Given the description of an element on the screen output the (x, y) to click on. 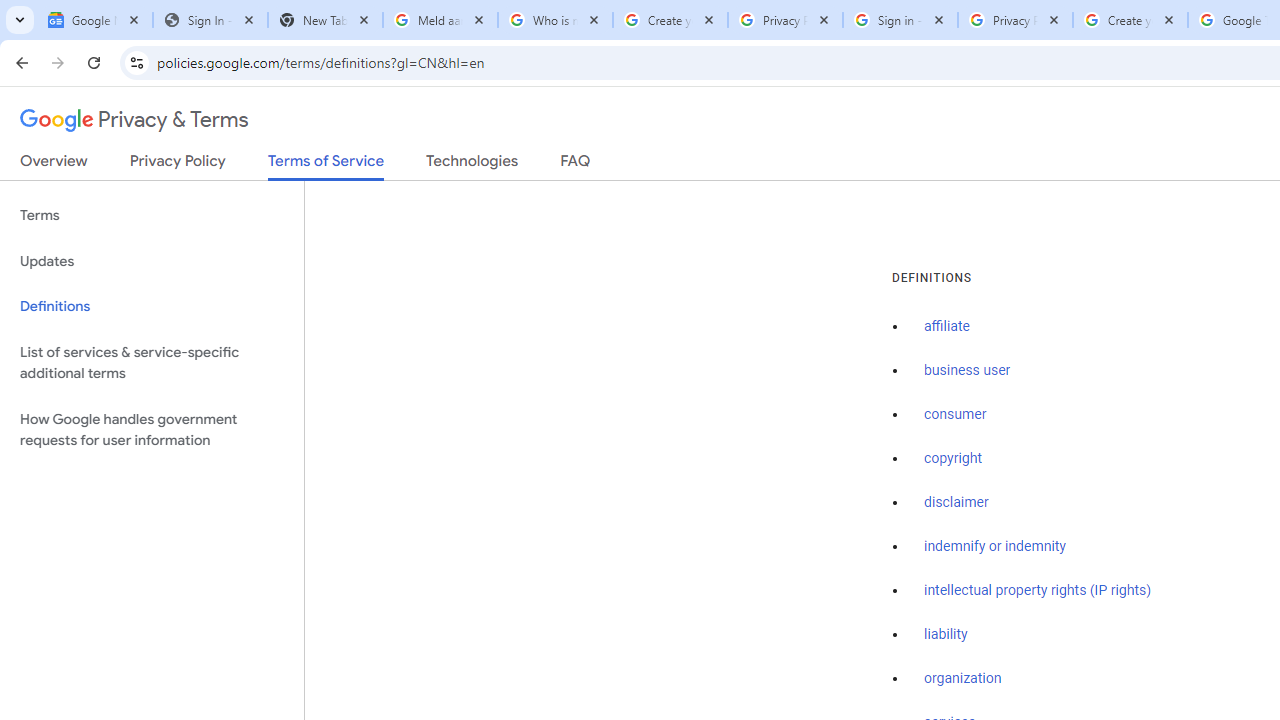
liability (945, 634)
Who is my administrator? - Google Account Help (555, 20)
Create your Google Account (670, 20)
consumer (955, 415)
copyright (952, 459)
business user (967, 371)
